Given the description of an element on the screen output the (x, y) to click on. 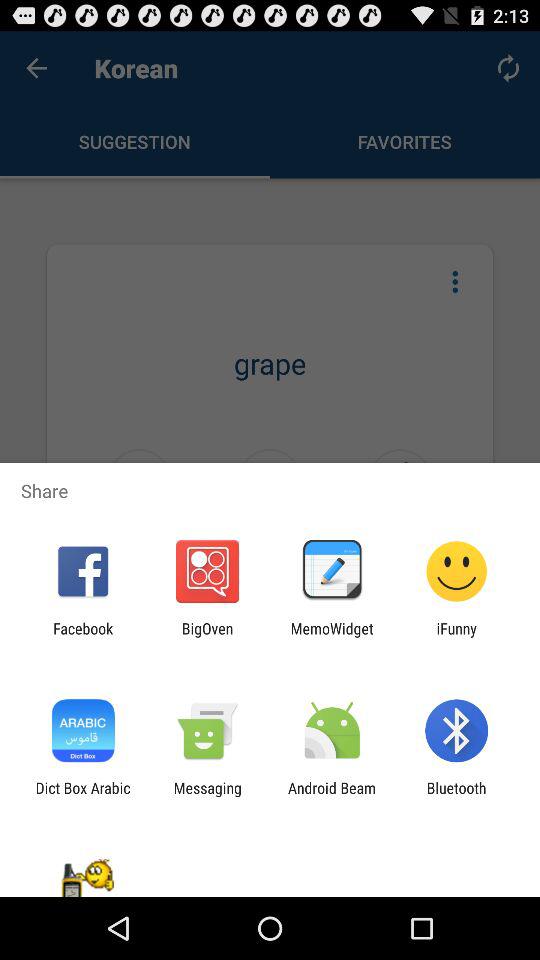
open the messaging app (207, 796)
